Given the description of an element on the screen output the (x, y) to click on. 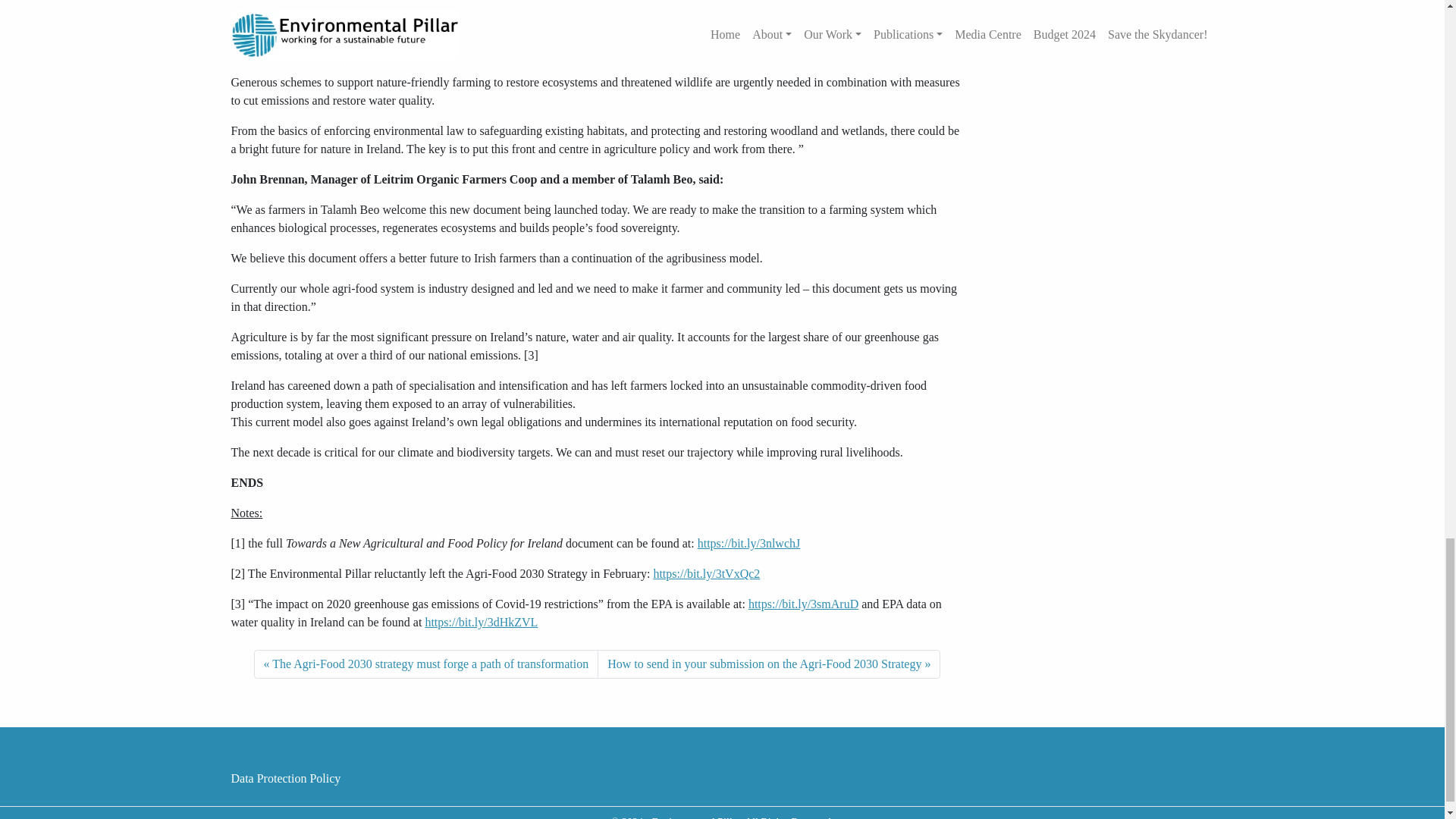
Data Protection Policy (291, 778)
